Given the description of an element on the screen output the (x, y) to click on. 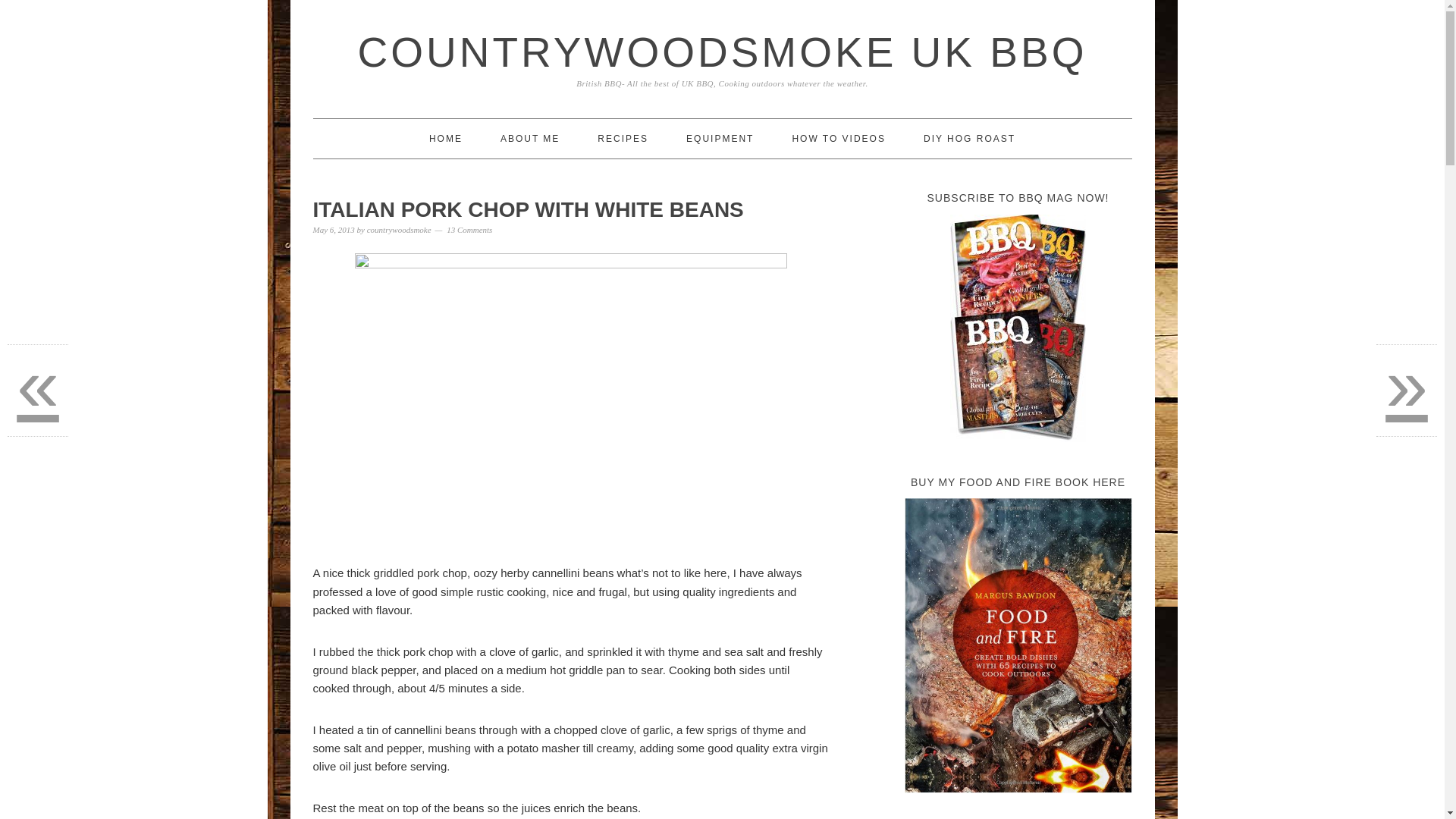
EQUIPMENT (719, 138)
HOME (445, 138)
13 Comments (469, 229)
ABOUT ME (529, 138)
countrywoodsmoke (398, 229)
COUNTRYWOODSMOKE UK BBQ (722, 52)
DIY HOG ROAST (968, 138)
HOW TO VIDEOS (838, 138)
RECIPES (622, 138)
